Given the description of an element on the screen output the (x, y) to click on. 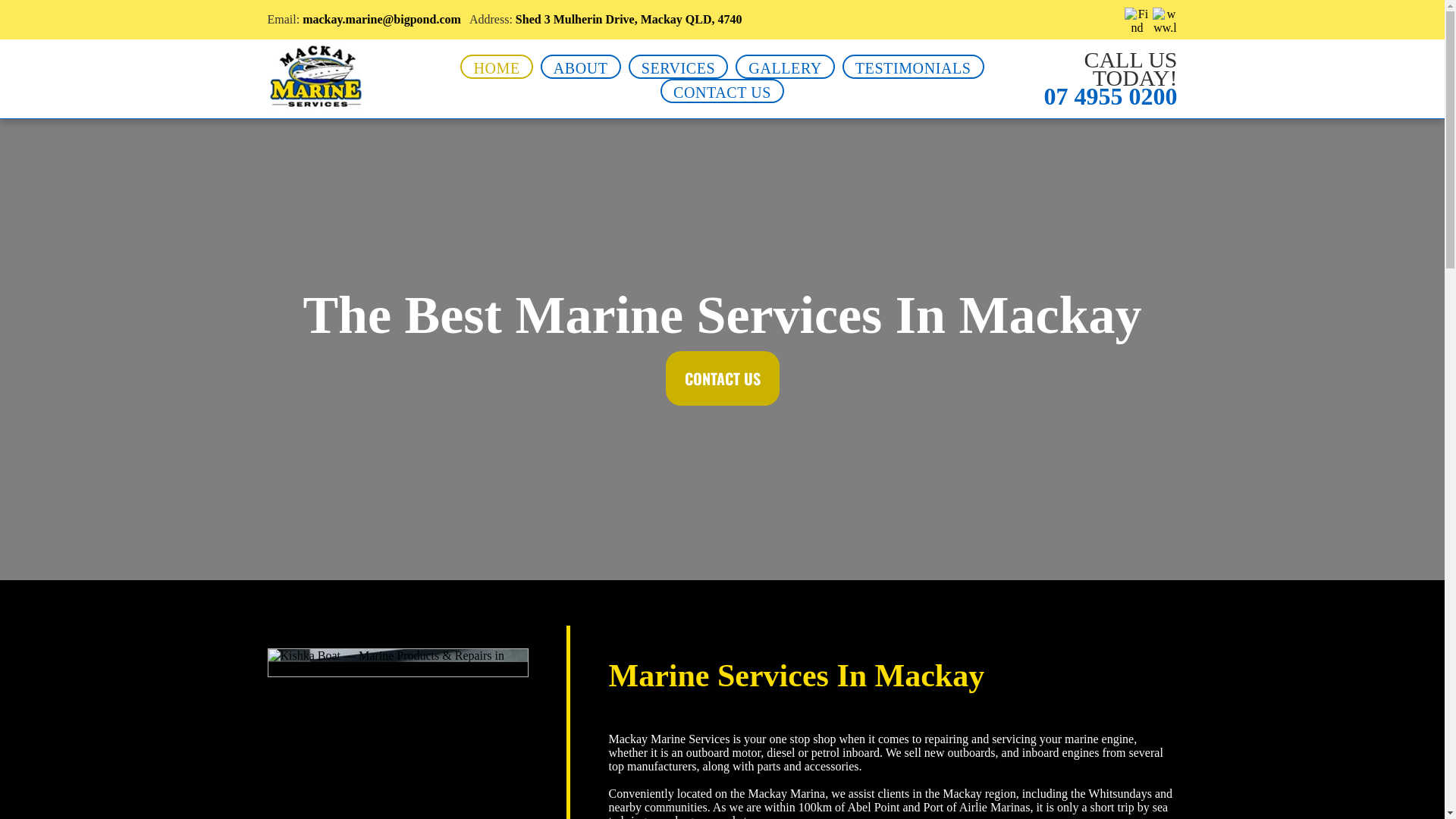
TESTIMONIALS Element type: text (913, 66)
07 4955 0200 Element type: text (1109, 95)
Find Us On Facebook Element type: hover (1136, 19)
CONTACT US Element type: text (722, 90)
Shed 3 Mulherin Drive, Mackay QLD, 4740 Element type: text (628, 18)
HOME Element type: text (496, 66)
www.localsearch.com.au Element type: hover (1164, 19)
GALLERY Element type: text (784, 66)
CONTACT US Element type: text (722, 378)
The Best Marine Services In Mackay Element type: hover (315, 76)
SERVICES Element type: text (678, 66)
ABOUT Element type: text (580, 66)
mackay.marine@bigpond.com Element type: text (381, 18)
